Given the description of an element on the screen output the (x, y) to click on. 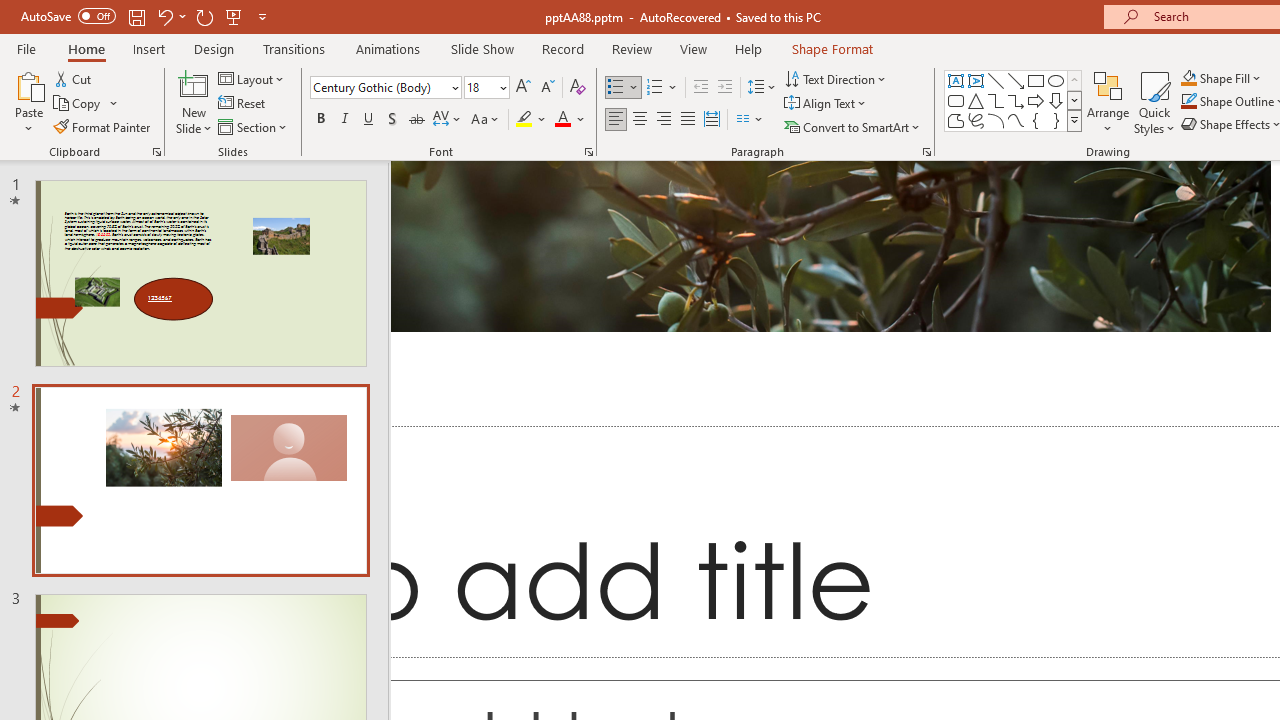
Connector: Elbow (995, 100)
Layout (252, 78)
View (693, 48)
Shape Fill Aqua, Accent 2 (1188, 78)
Font (379, 87)
Left Brace (1035, 120)
Font... (588, 151)
Slide (200, 480)
Shape Outline Teal, Accent 1 (1188, 101)
Redo (204, 15)
Rectangle: Rounded Corners (955, 100)
Text Highlight Color (531, 119)
Align Text (826, 103)
